Given the description of an element on the screen output the (x, y) to click on. 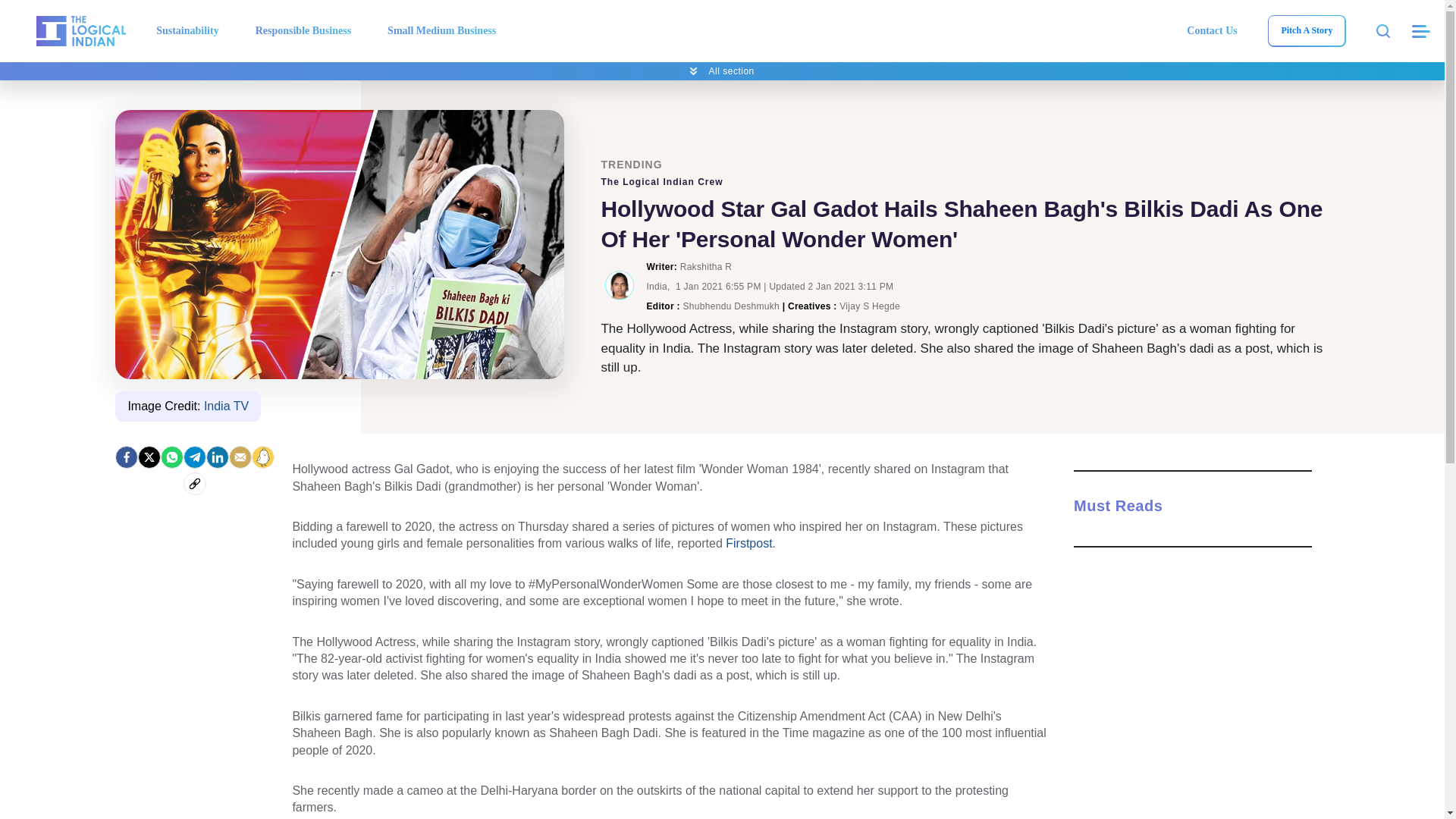
Share by Email (239, 456)
Sustainability (186, 30)
Rakshitha R (619, 289)
Responsible Business (303, 30)
The Logical Indian (80, 30)
Pitch A Story (1305, 30)
Small Medium Business (441, 30)
Contact Us (1212, 30)
LinkedIn (217, 456)
